Given the description of an element on the screen output the (x, y) to click on. 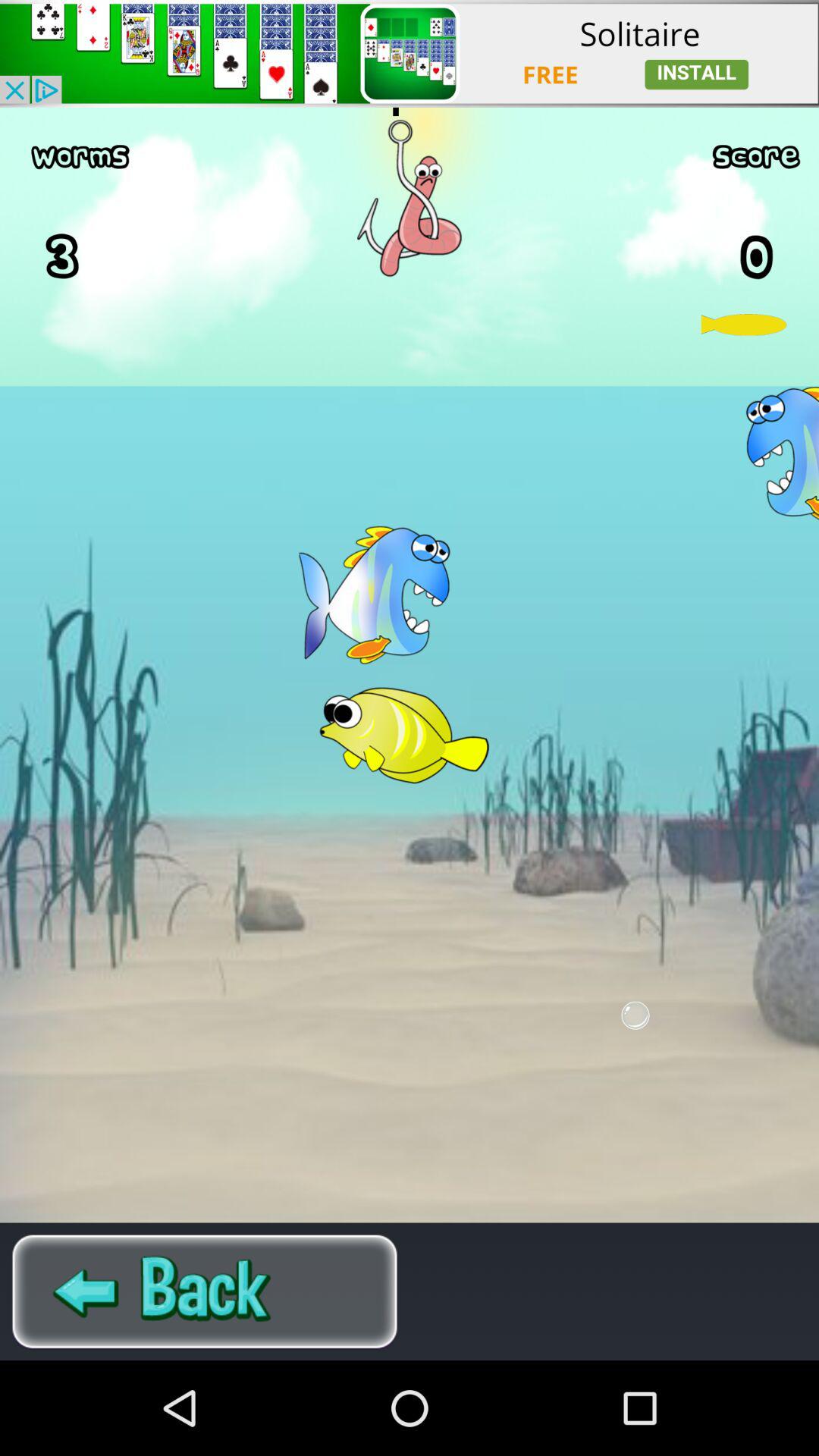
open the advertisement (409, 53)
